Given the description of an element on the screen output the (x, y) to click on. 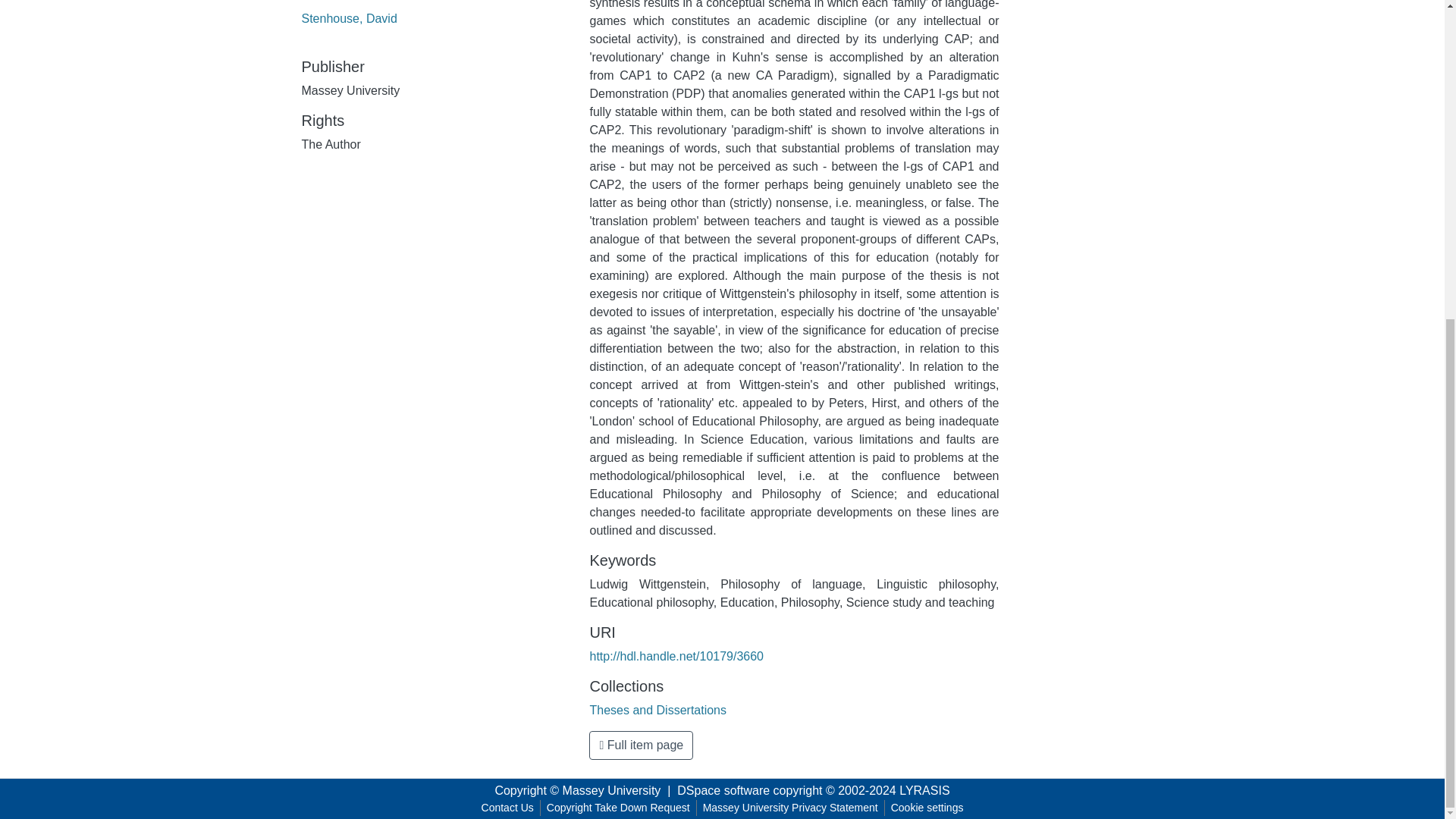
Stenhouse, David (349, 18)
DSpace software (723, 789)
Theses and Dissertations (657, 709)
Full item page (641, 745)
Contact Us (508, 807)
LYRASIS (924, 789)
